Given the description of an element on the screen output the (x, y) to click on. 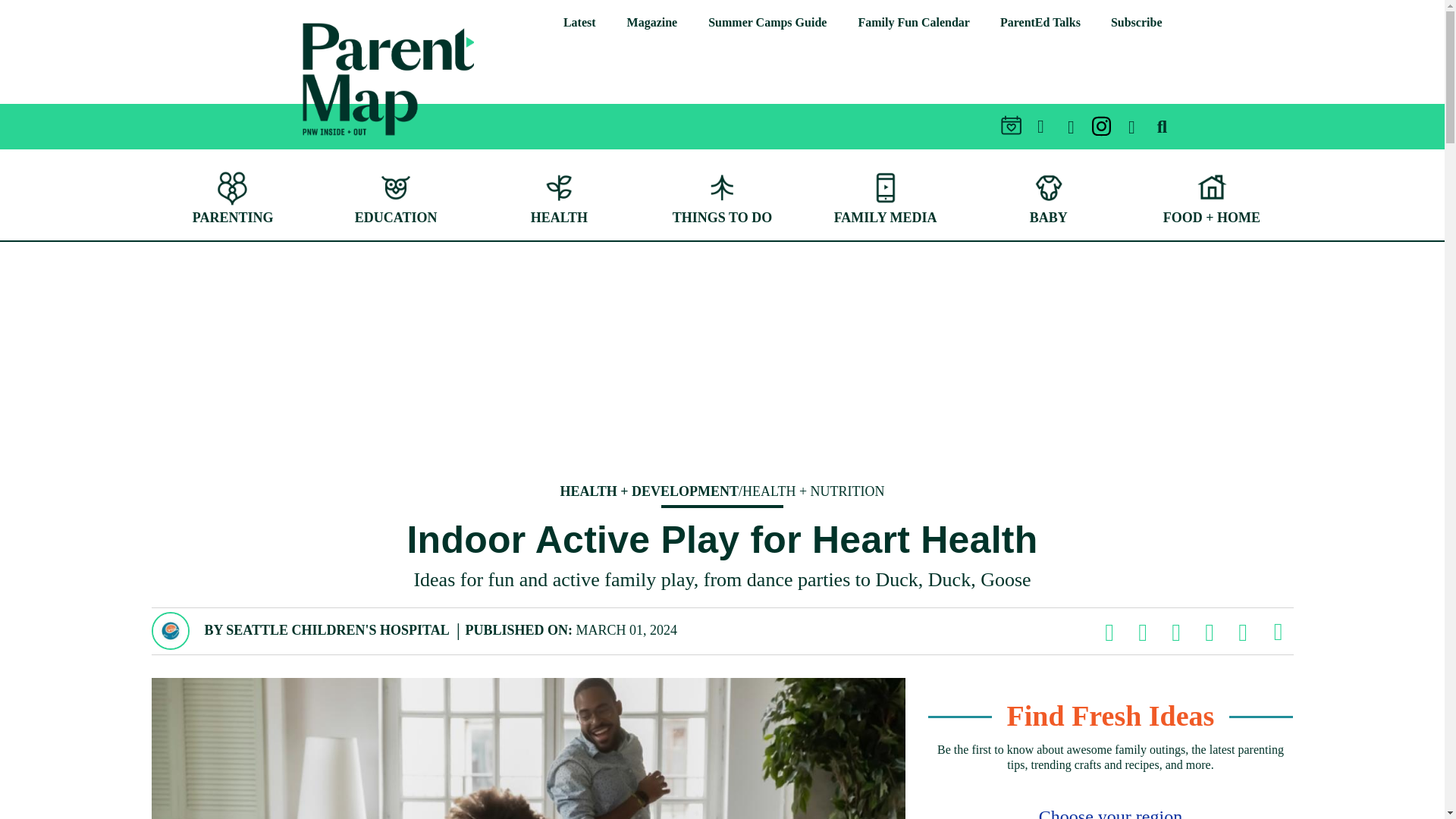
Subscribe (1136, 22)
Search (1405, 72)
Latest (579, 22)
Family Fun Calendar (913, 22)
Summer Camps Guide (767, 22)
ParentMap (312, 145)
Home (388, 78)
ParentEd Talks (1040, 22)
Leave a comment (1277, 631)
Home (312, 145)
Magazine (652, 22)
Calendar (913, 22)
